Given the description of an element on the screen output the (x, y) to click on. 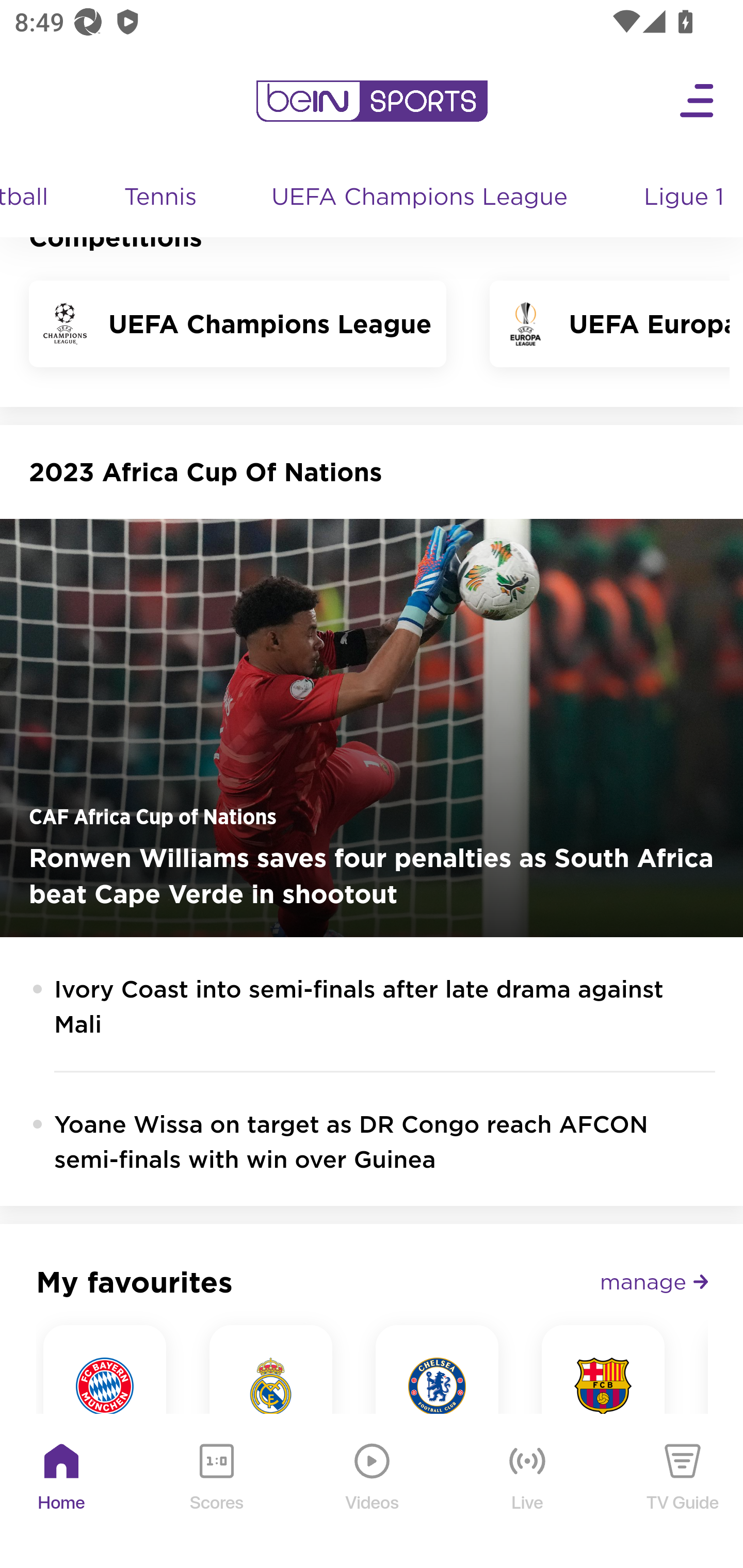
en-my?platform=mobile_android bein logo (371, 101)
Open Menu Icon (697, 101)
Tennis (161, 198)
UEFA Champions League (421, 198)
Ligue 1 (685, 198)
Manage redirection icon arrow (654, 1282)
fc-bayern-mnchen-women?platform=mobile_android (105, 1386)
real-madrid-cf?platform=mobile_android (271, 1386)
chelsea-fc?platform=mobile_android (436, 1386)
fc-barcelona-women?platform=mobile_android (603, 1386)
Home Home Icon Home (61, 1491)
Scores Scores Icon Scores (216, 1491)
Videos Videos Icon Videos (372, 1491)
TV Guide TV Guide Icon TV Guide (682, 1491)
